Given the description of an element on the screen output the (x, y) to click on. 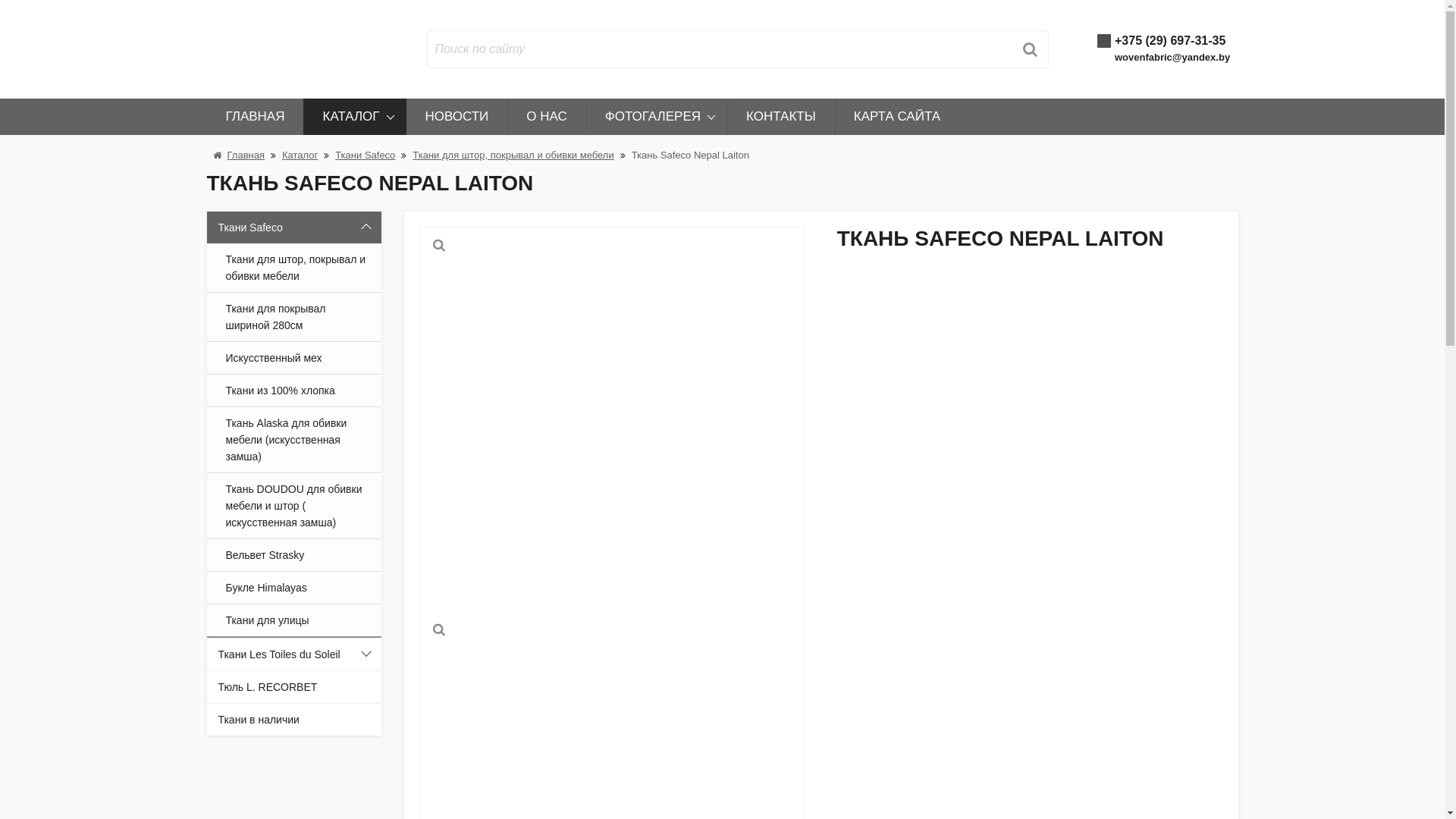
+375 (29) 697-31-35 Element type: text (1169, 40)
wovenfabric@yandex.by Element type: text (1172, 56)
